Given the description of an element on the screen output the (x, y) to click on. 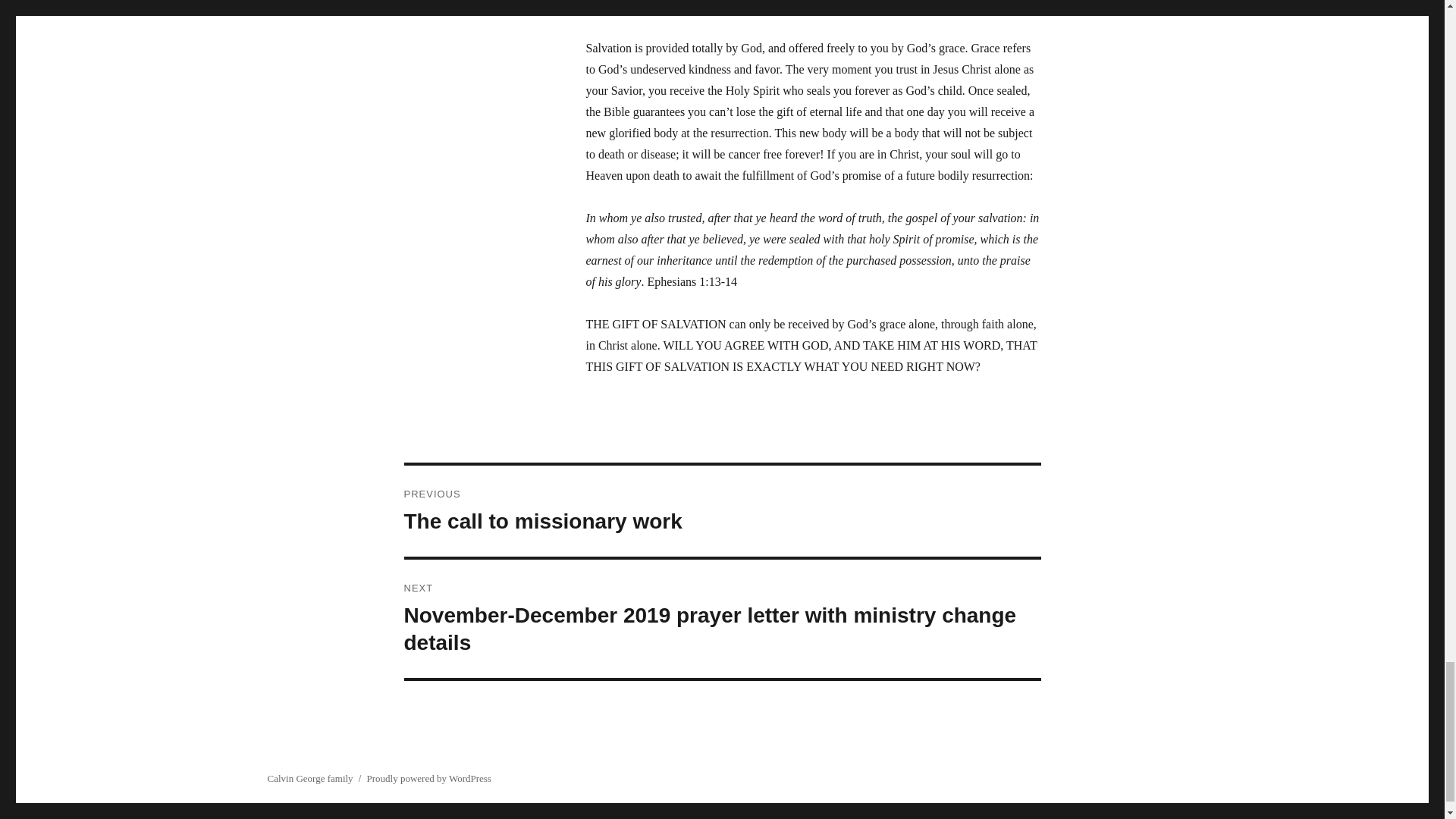
Calvin George family (309, 778)
Proudly powered by WordPress (722, 511)
